Given the description of an element on the screen output the (x, y) to click on. 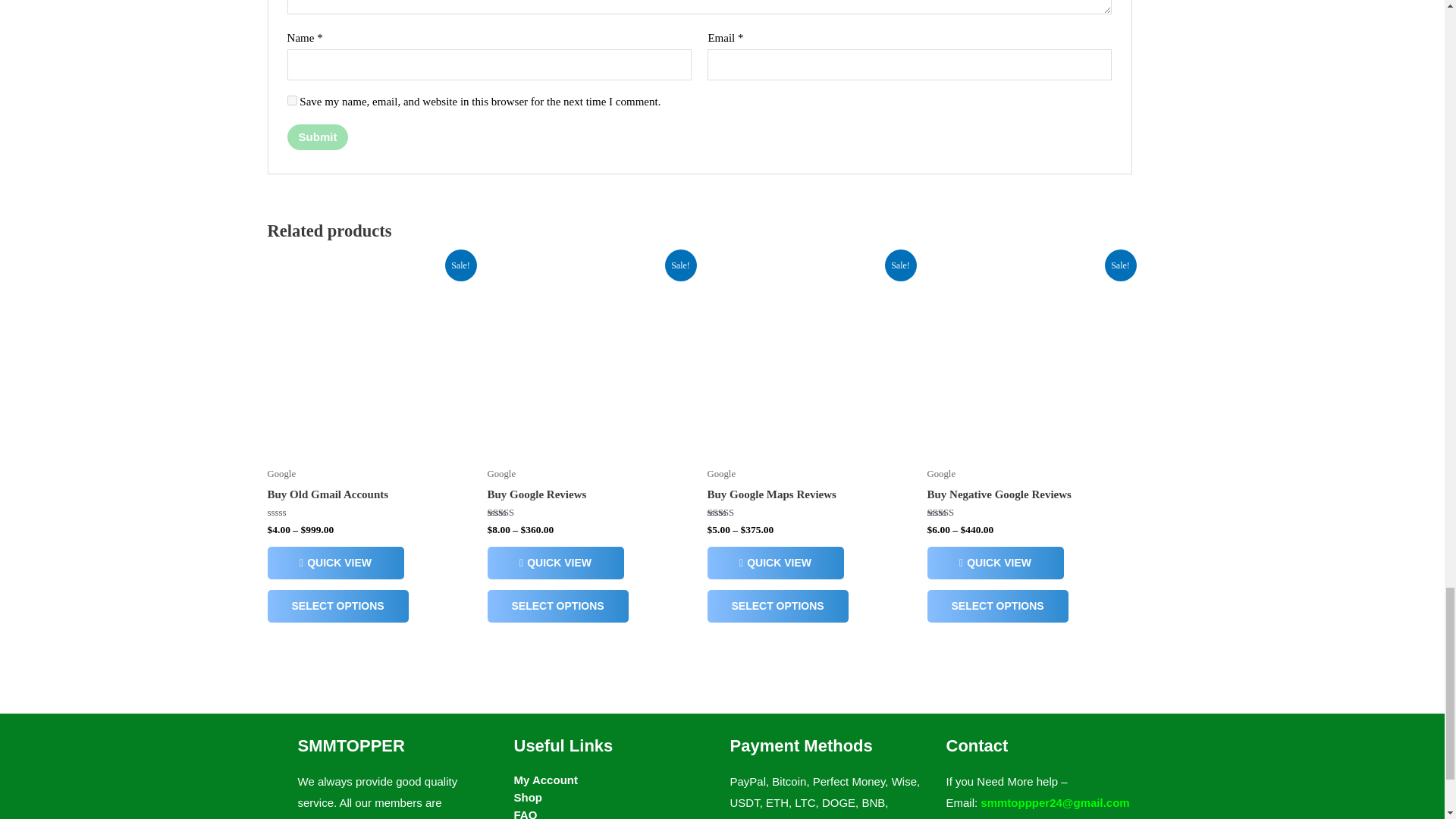
Submit (317, 136)
yes (291, 100)
